Given the description of an element on the screen output the (x, y) to click on. 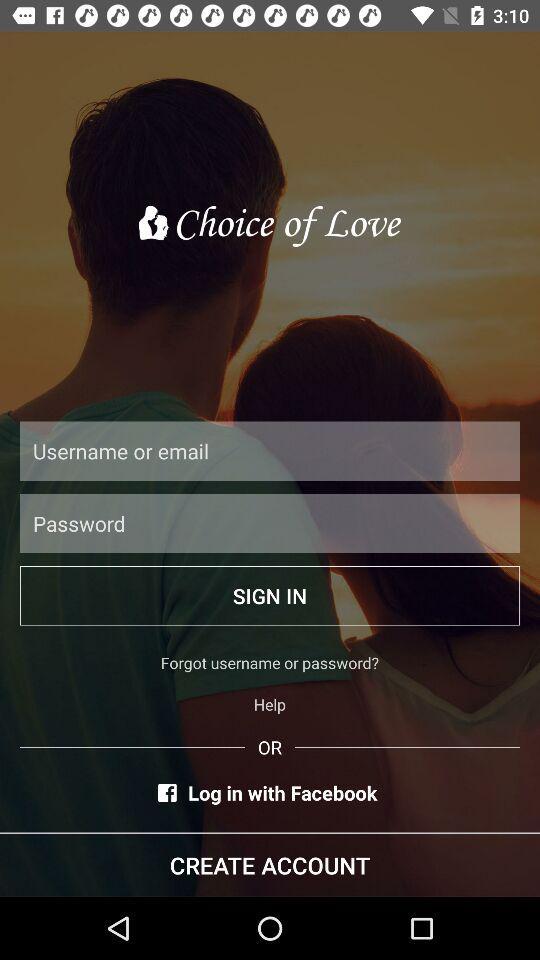
select forgot username or (269, 662)
